Given the description of an element on the screen output the (x, y) to click on. 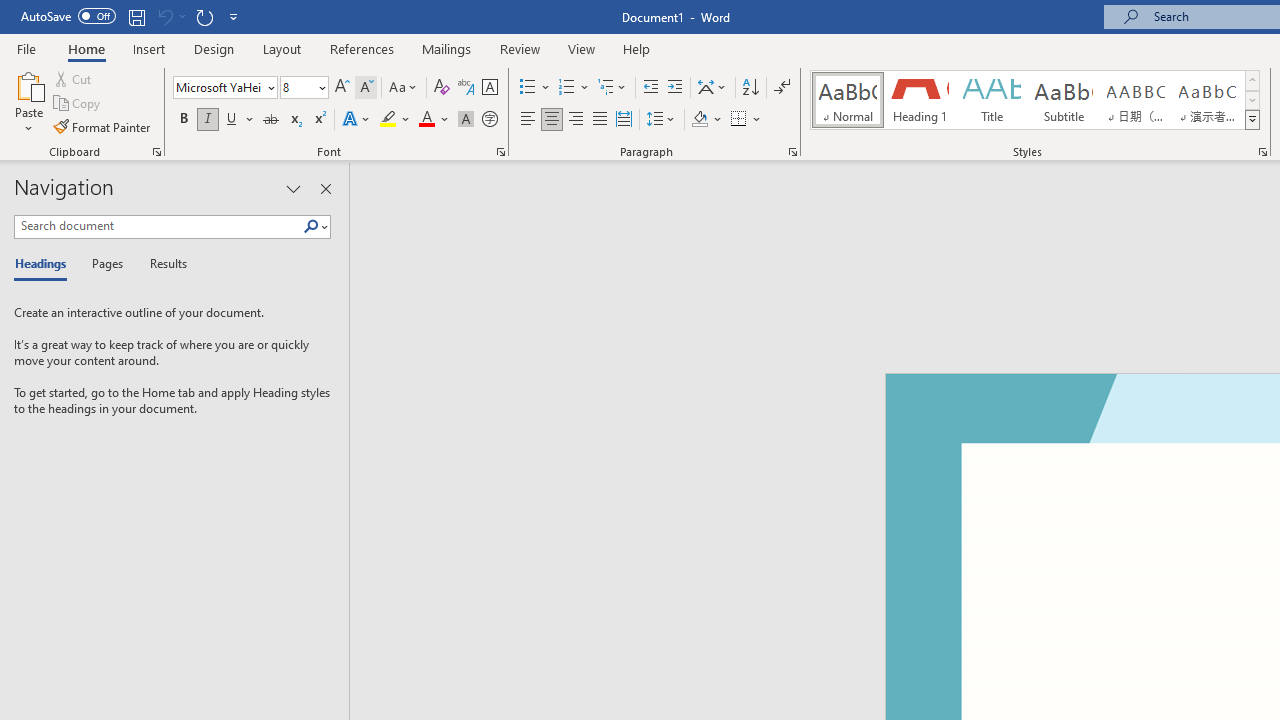
Styles (1252, 120)
Multilevel List (613, 87)
System (10, 11)
Insert (149, 48)
Search document (157, 226)
Help (637, 48)
Mailings (447, 48)
Sort... (750, 87)
Headings (45, 264)
Can't Undo (164, 15)
Pages (105, 264)
Format Painter (103, 126)
Font Size (304, 87)
Decrease Indent (650, 87)
Align Right (575, 119)
